Given the description of an element on the screen output the (x, y) to click on. 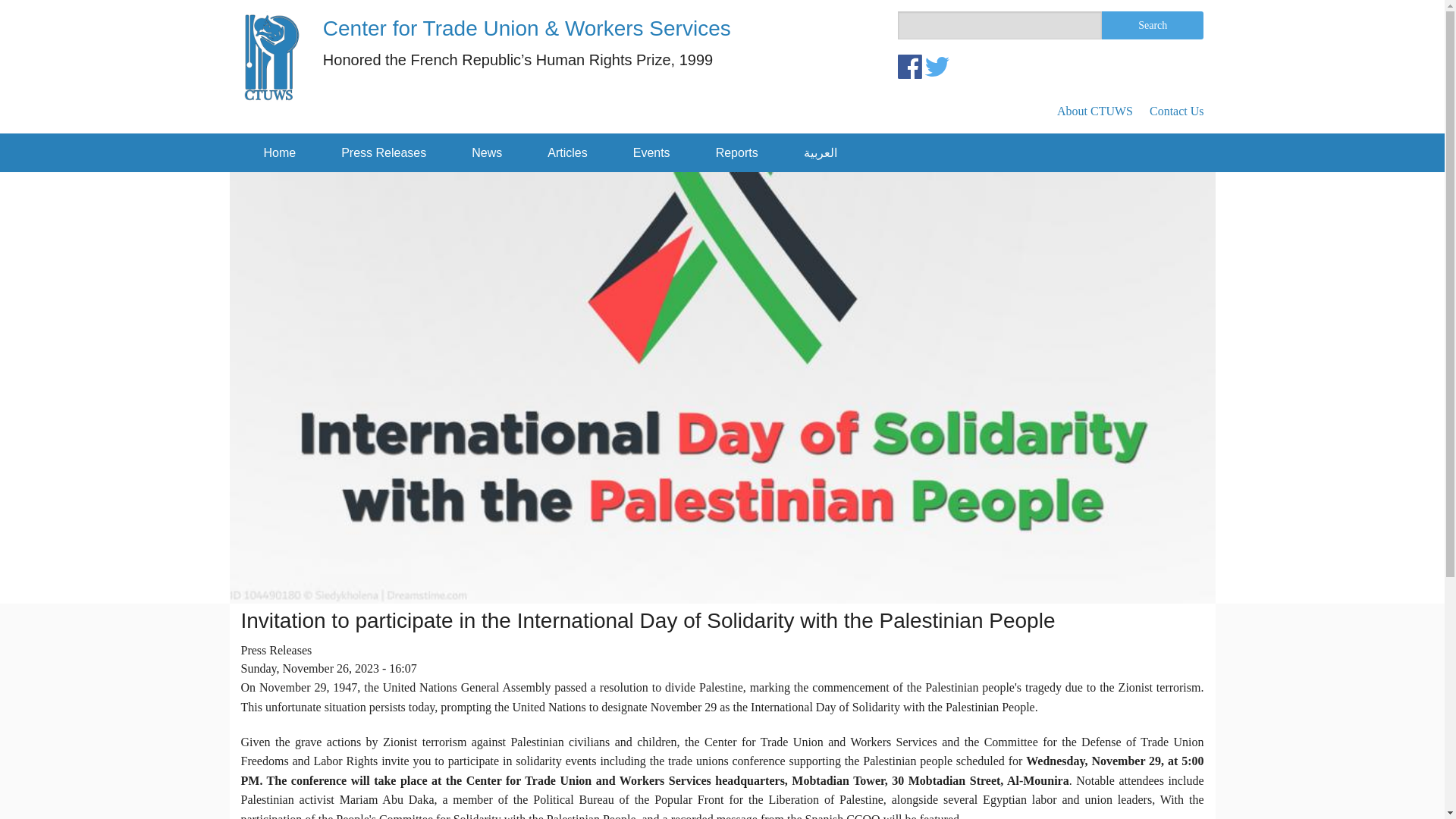
Home (280, 152)
Reports (737, 152)
News (485, 152)
Press Releases (383, 152)
Events (651, 152)
About CTUWS (1094, 111)
Home (526, 28)
Enter the terms you wish to search for. (1000, 25)
Articles (566, 152)
Contact Us (1177, 111)
Search (1153, 25)
